Given the description of an element on the screen output the (x, y) to click on. 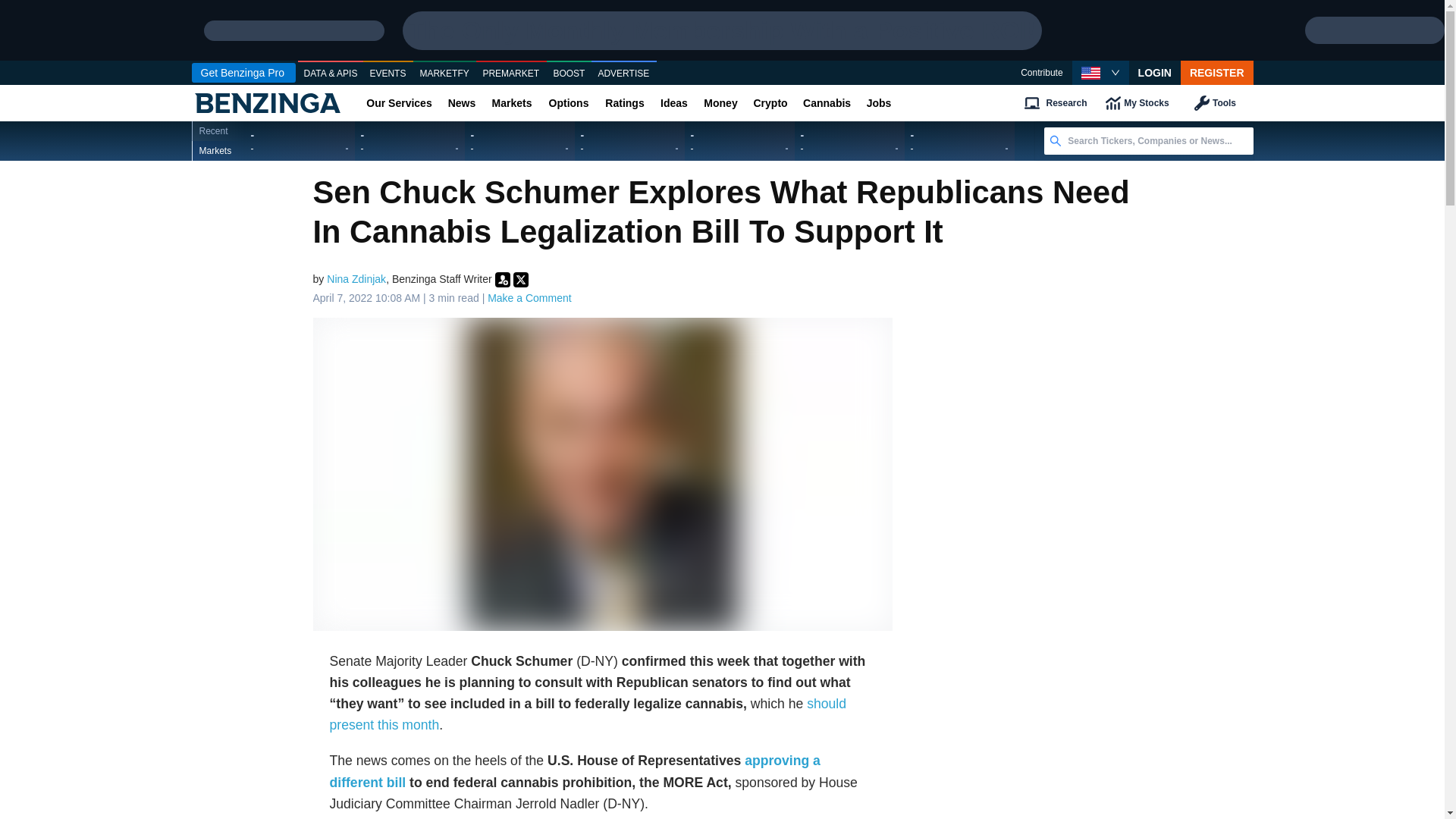
REGISTER (1216, 72)
USA (1090, 72)
MARKETFY (444, 73)
ADVERTISE (623, 73)
Get Benzinga Pro (242, 72)
EVENTS (387, 73)
Our Services (398, 103)
LOGIN (1154, 72)
Our Services (398, 103)
Contribute (1041, 72)
